Given the description of an element on the screen output the (x, y) to click on. 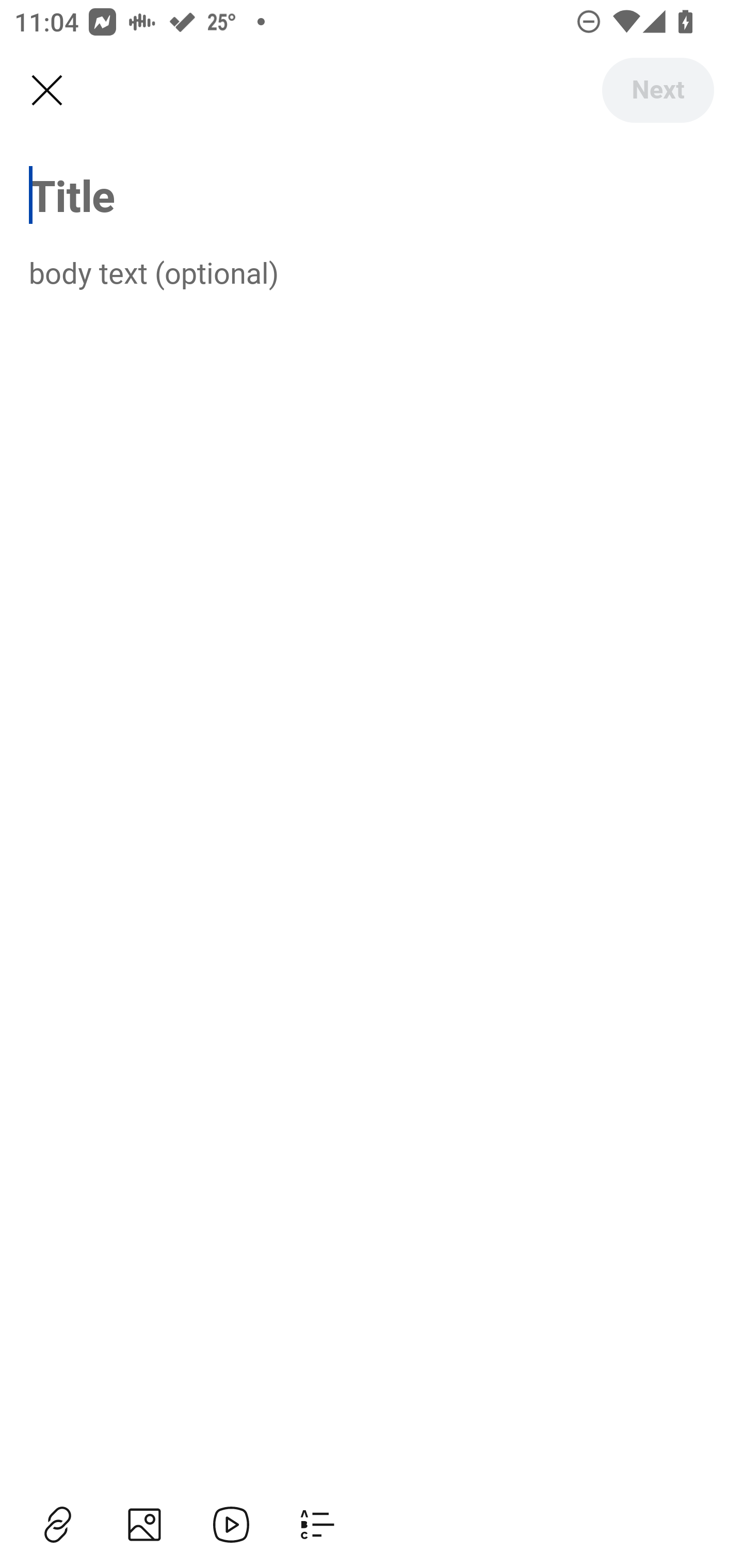
Close (46, 90)
Next (657, 90)
Post title (371, 195)
body text (optional) (371, 271)
